Given the description of an element on the screen output the (x, y) to click on. 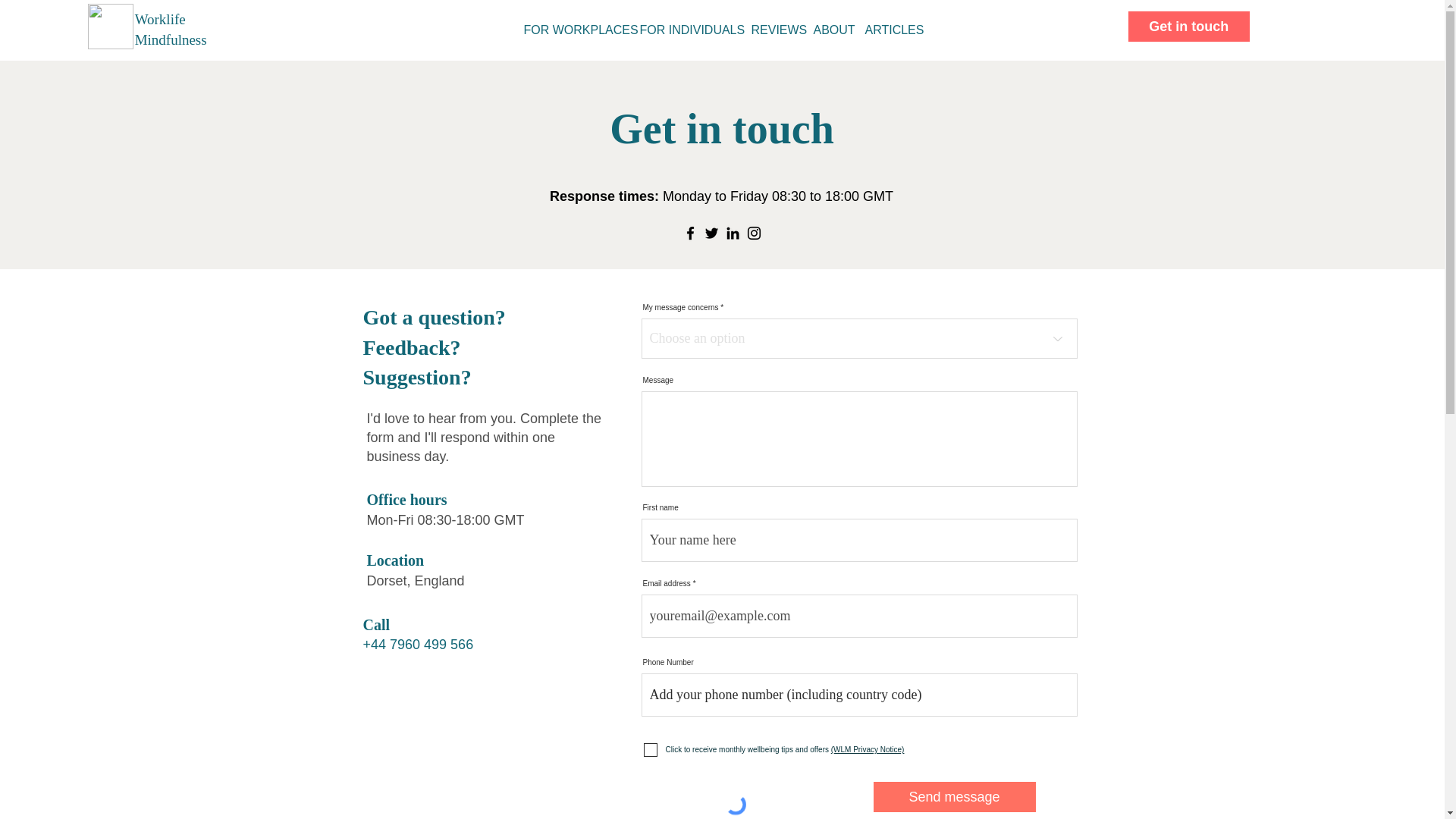
REVIEWS (778, 29)
ARTICLES (891, 29)
Send message (954, 797)
Get in touch (1188, 26)
Worklife Mindfulness (110, 26)
Worklife Mindfulness (170, 29)
